Given the description of an element on the screen output the (x, y) to click on. 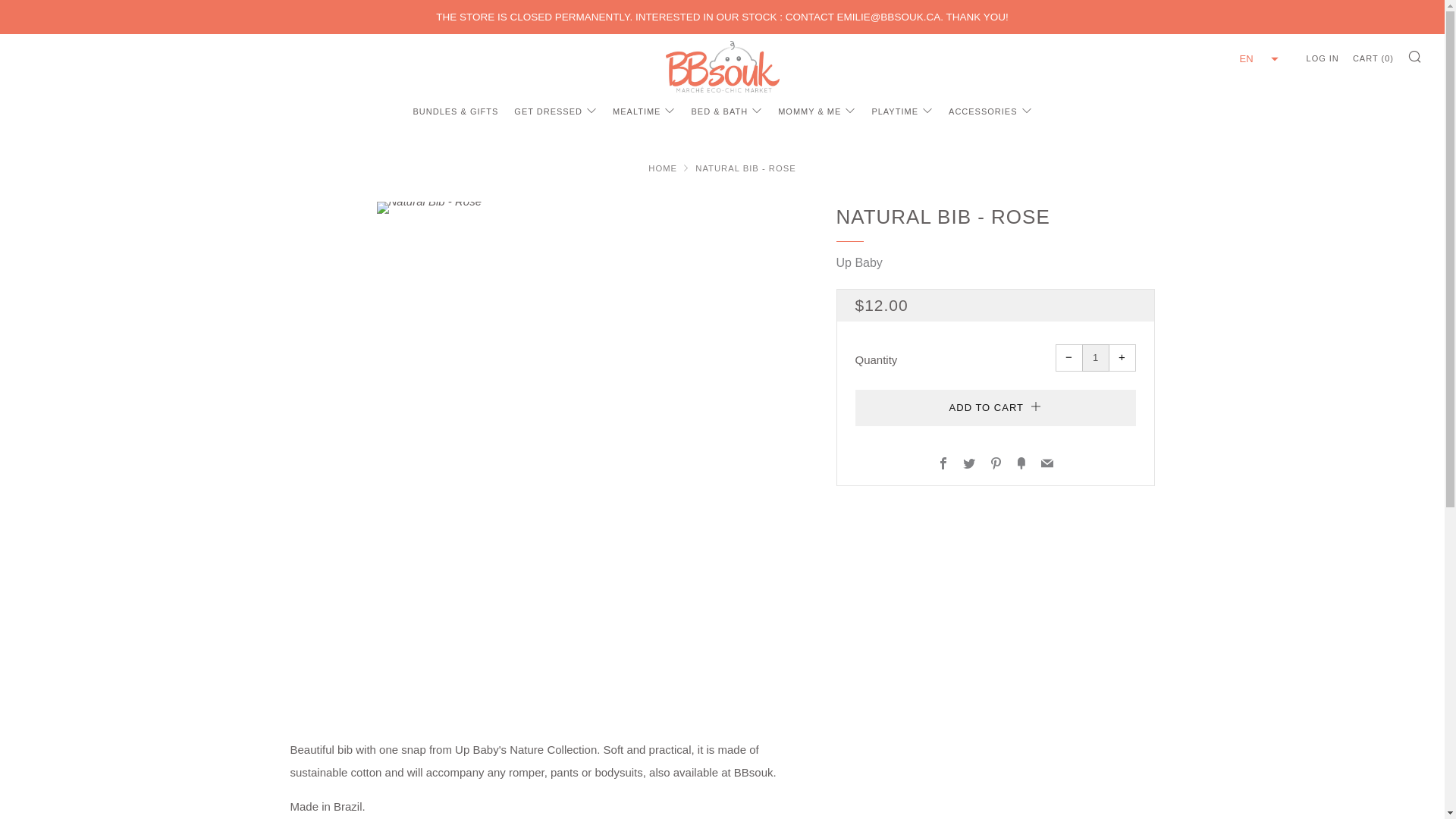
Up Baby (858, 262)
1 (1094, 357)
Home (662, 167)
